Given the description of an element on the screen output the (x, y) to click on. 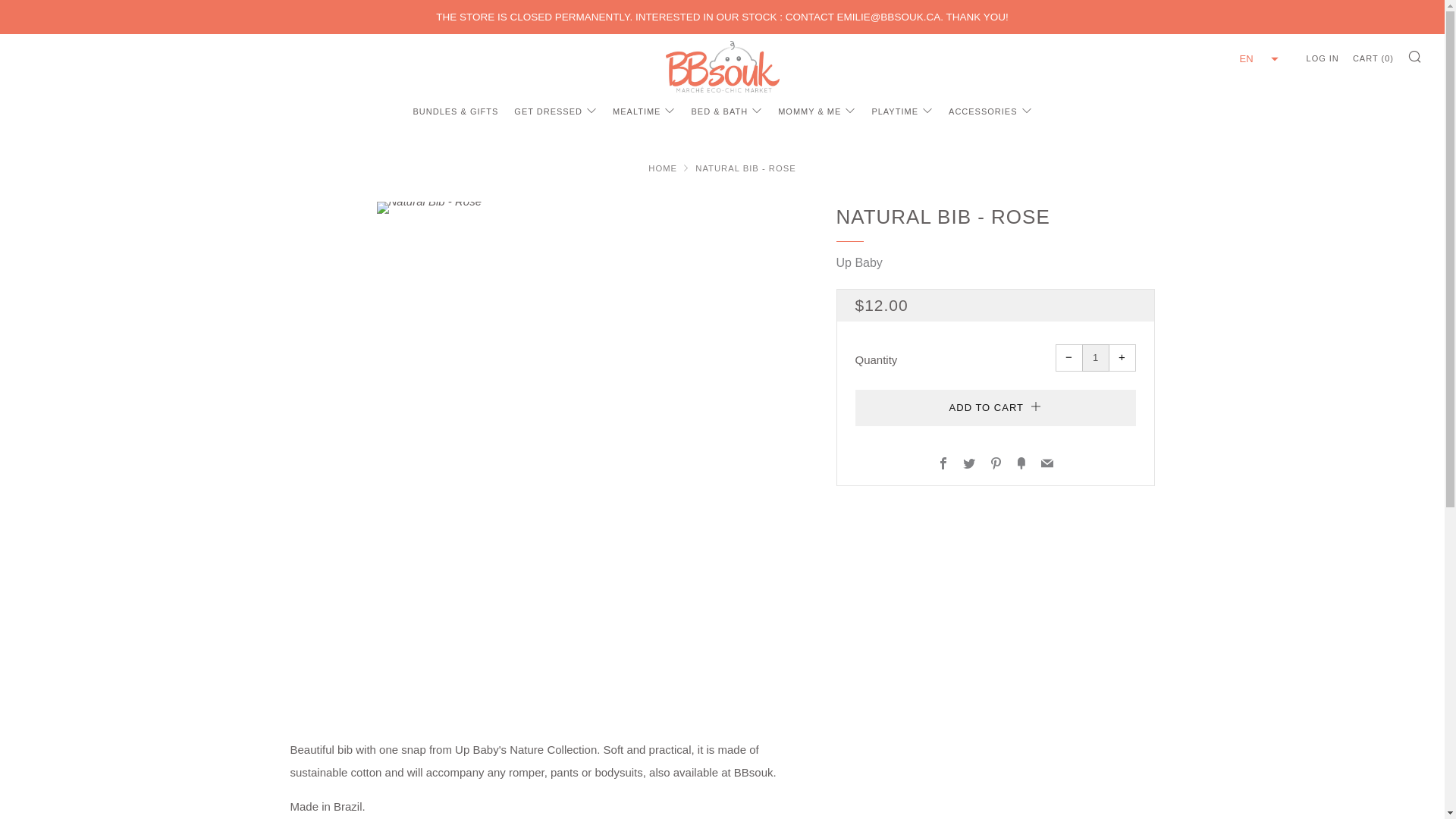
Up Baby (858, 262)
1 (1094, 357)
Home (662, 167)
